Given the description of an element on the screen output the (x, y) to click on. 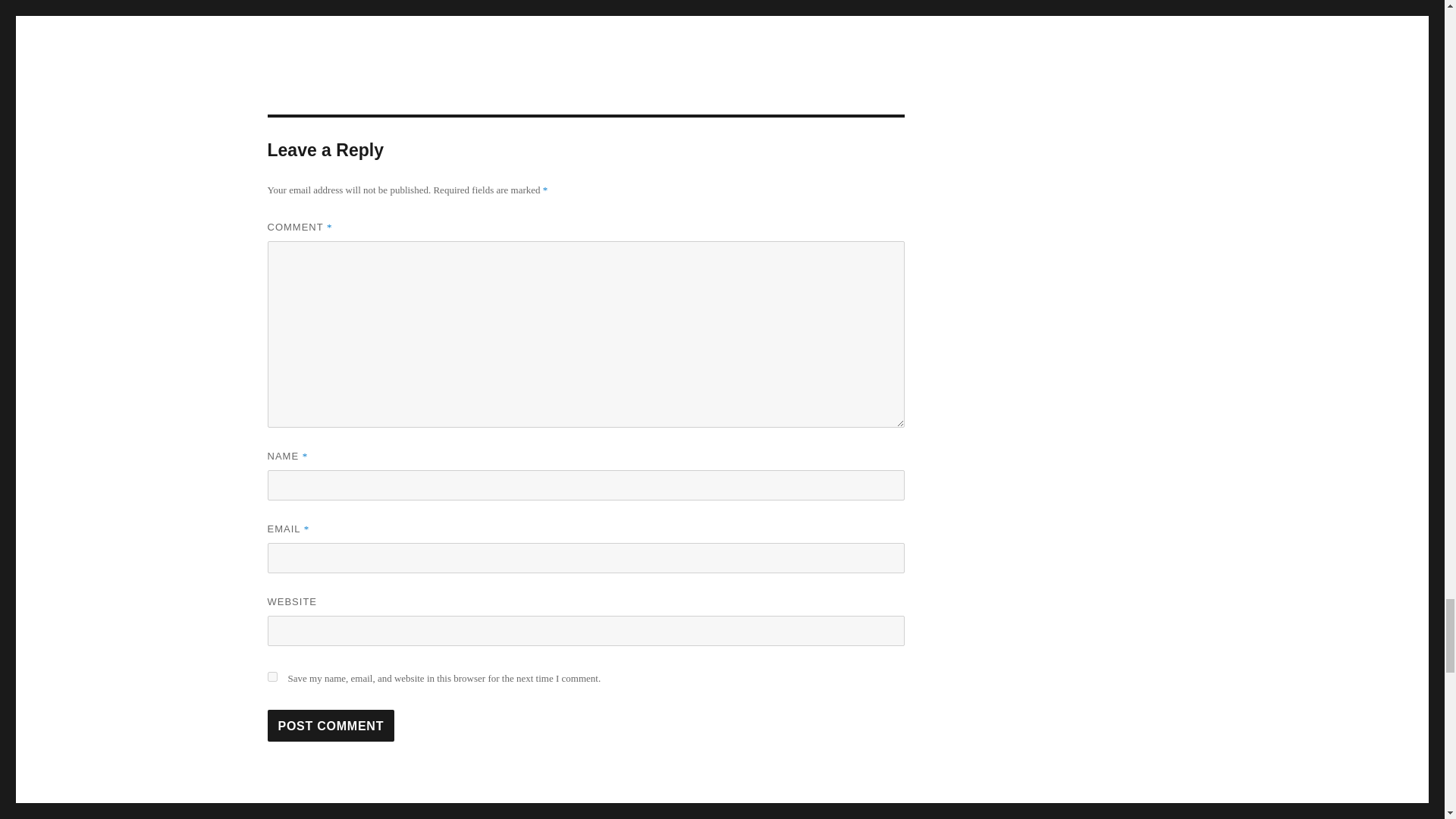
Post Comment (330, 726)
yes (271, 676)
Post Comment (330, 726)
